Given the description of an element on the screen output the (x, y) to click on. 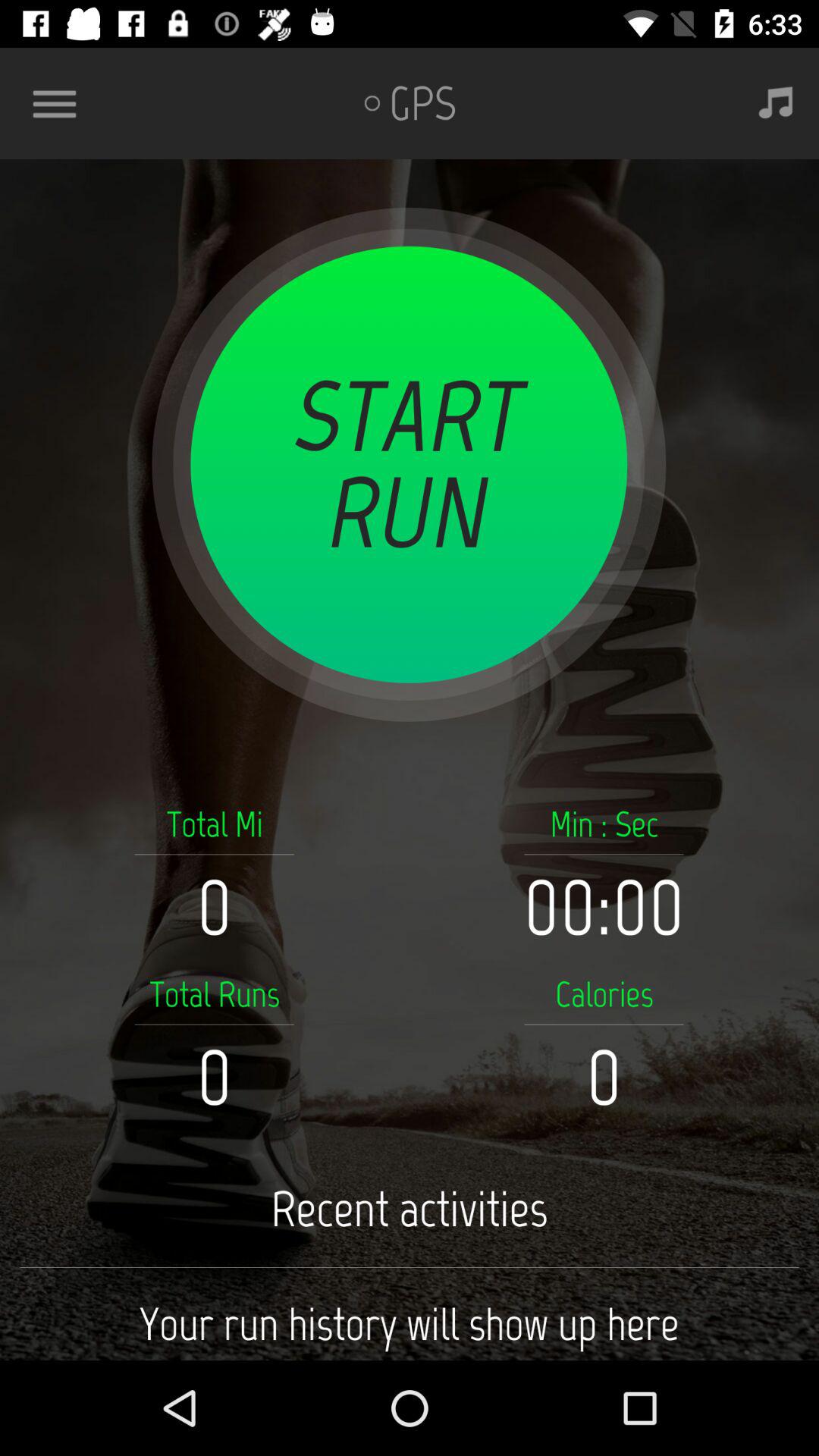
the button is used to play music while running (776, 103)
